Given the description of an element on the screen output the (x, y) to click on. 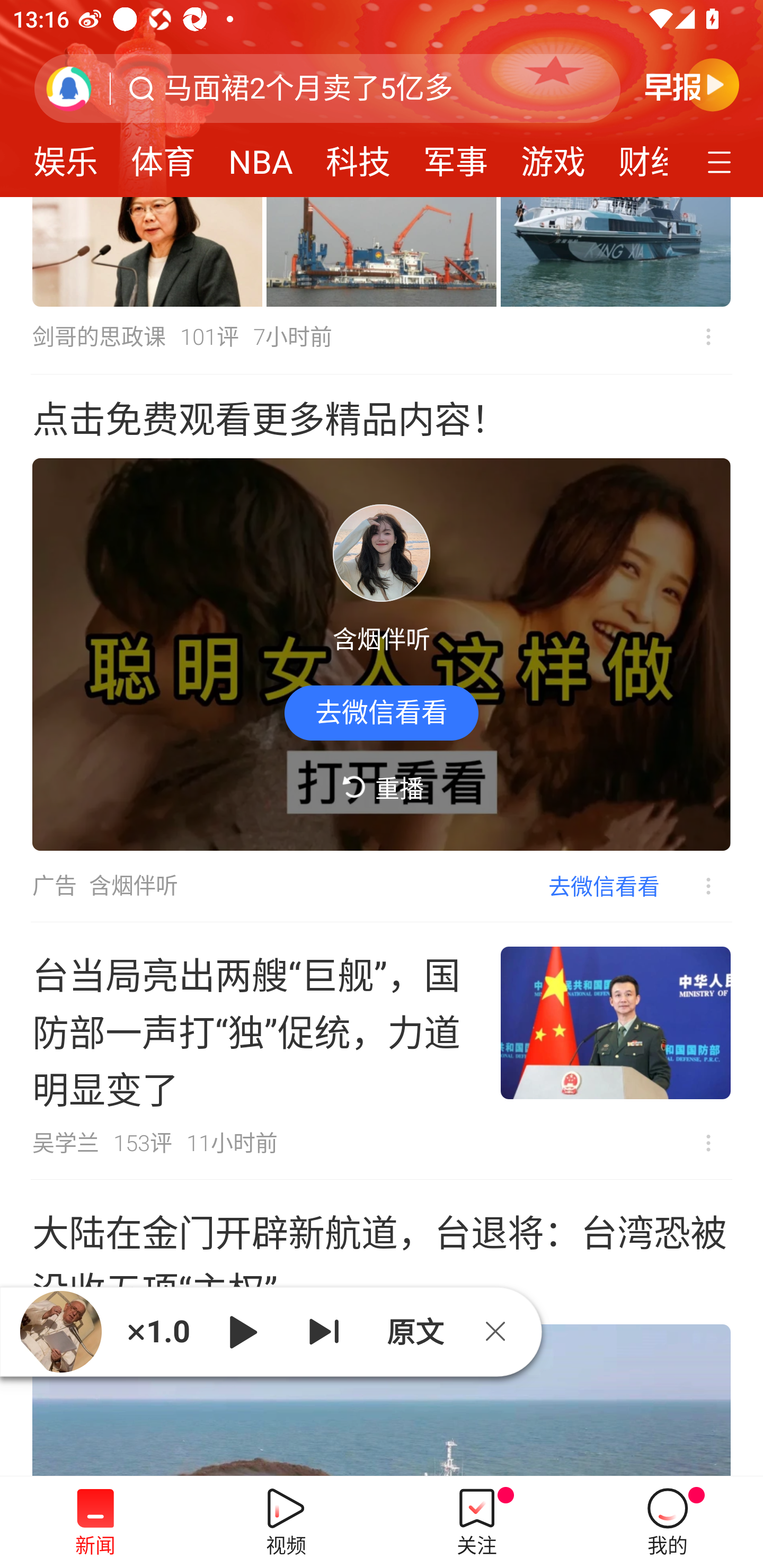
早晚报 (691, 84)
刷新 (68, 88)
马面裙2个月卖了5亿多 (308, 88)
娱乐 (65, 155)
体育 (163, 155)
NBA (260, 155)
科技 (357, 155)
军事 (455, 155)
游戏 (553, 155)
 定制频道 (721, 160)
图片 图片 图片 剑哥的思政课 101评 7小时前  不感兴趣 (381, 285)
 不感兴趣 (707, 337)
点击免费观看更多精品内容！ 含烟伴听 去微信看看 重播 广告 含烟伴听 去微信看看  不感兴趣 (381, 647)
含烟伴听 去微信看看 重播 (381, 654)
去微信看看 (381, 712)
重播 (381, 787)
 不感兴趣 (694, 886)
去微信看看 (603, 885)
广告 (54, 885)
含烟伴听 (133, 885)
 不感兴趣 (707, 1143)
播放器 (61, 1331)
 播放 (242, 1330)
 下一个 (323, 1330)
 关闭 (501, 1330)
原文 (413, 1331)
 1.0 (157, 1330)
